Given the description of an element on the screen output the (x, y) to click on. 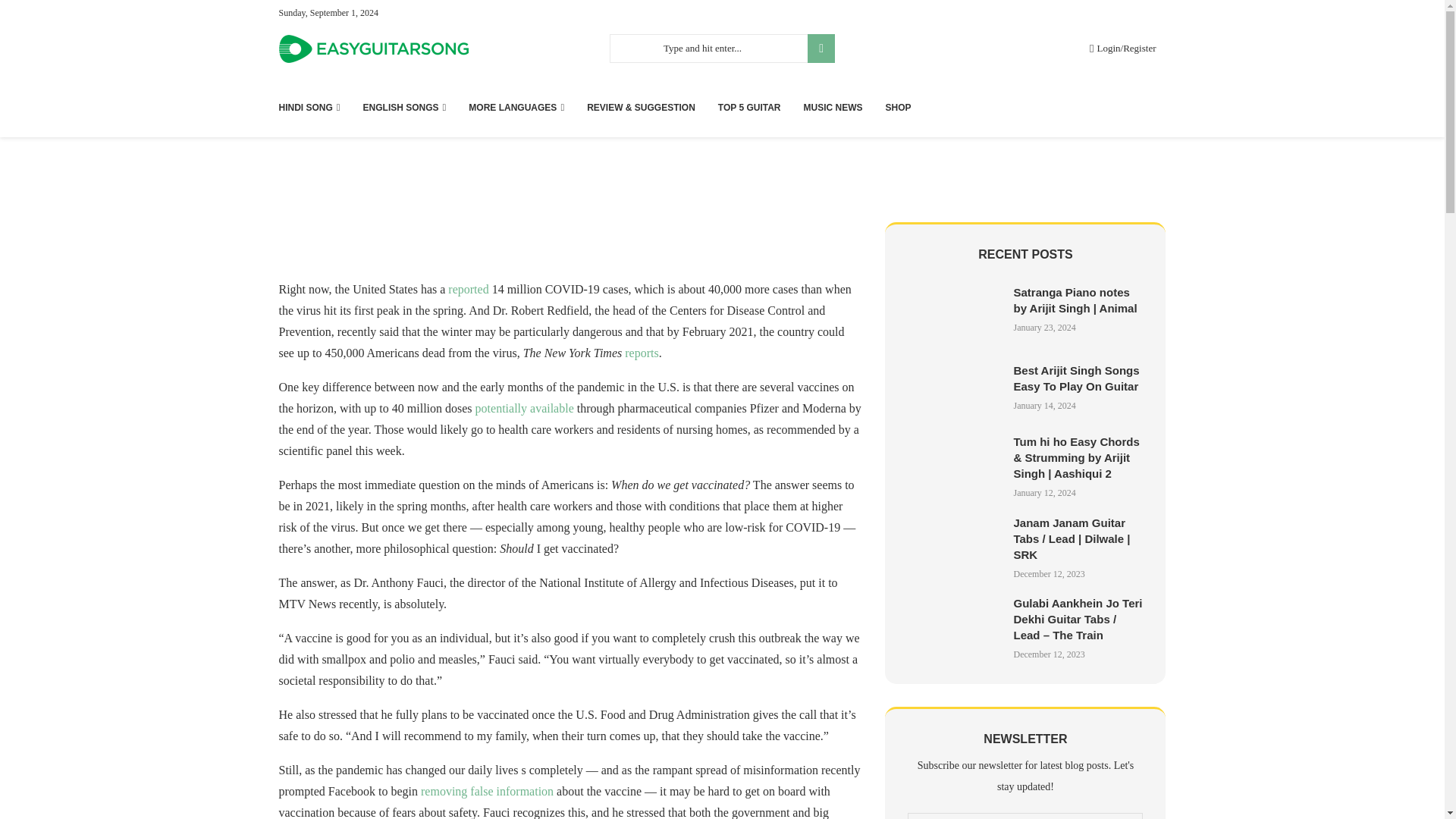
MORE LANGUAGES (516, 107)
Best Arijit Singh Songs Easy To Play On Guitar (954, 386)
HINDI SONG (309, 107)
ENGLISH SONGS (404, 107)
SEARCH (821, 48)
